Given the description of an element on the screen output the (x, y) to click on. 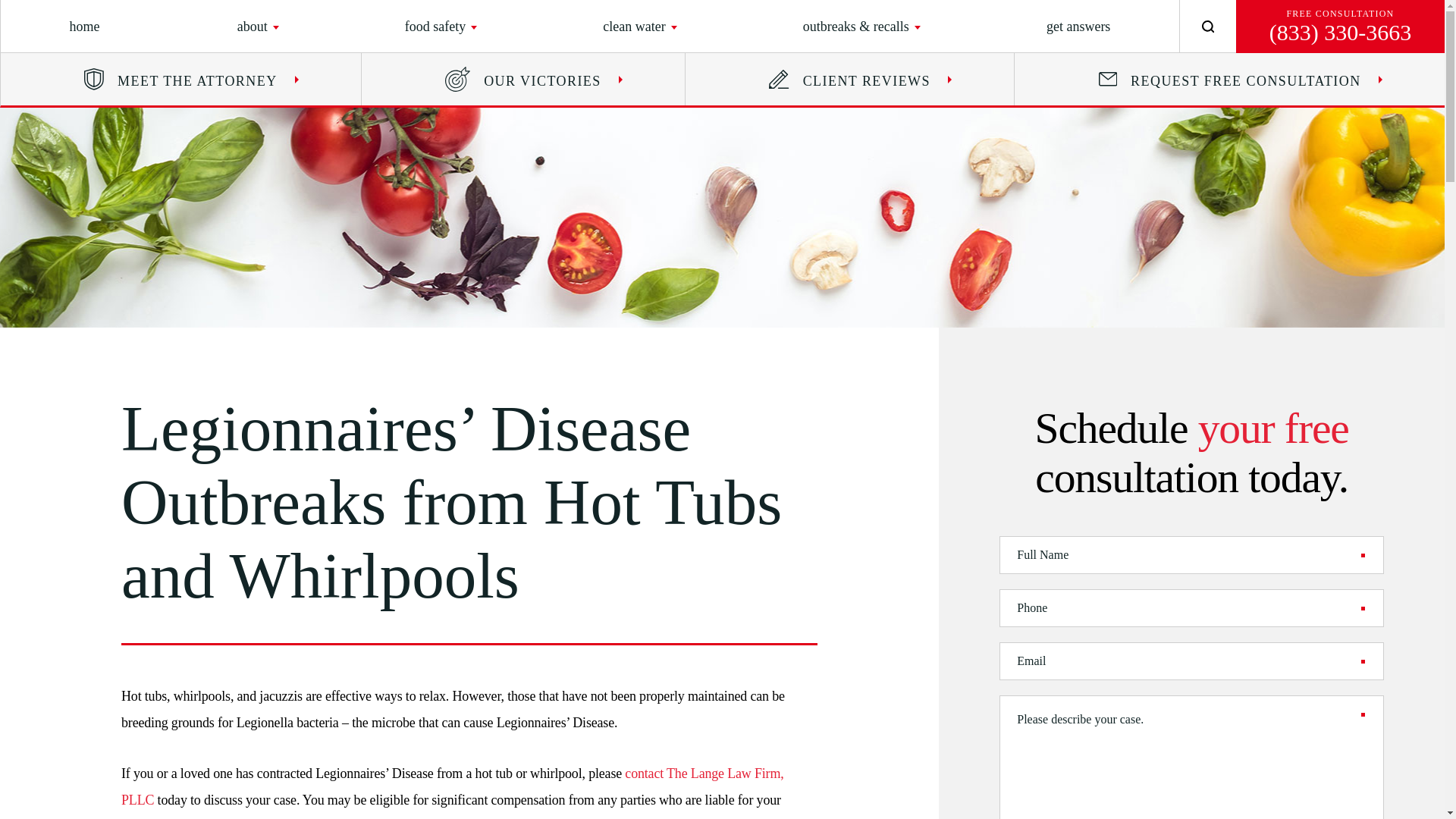
food safety (434, 26)
home (84, 26)
clean water (633, 26)
about (252, 26)
